Given the description of an element on the screen output the (x, y) to click on. 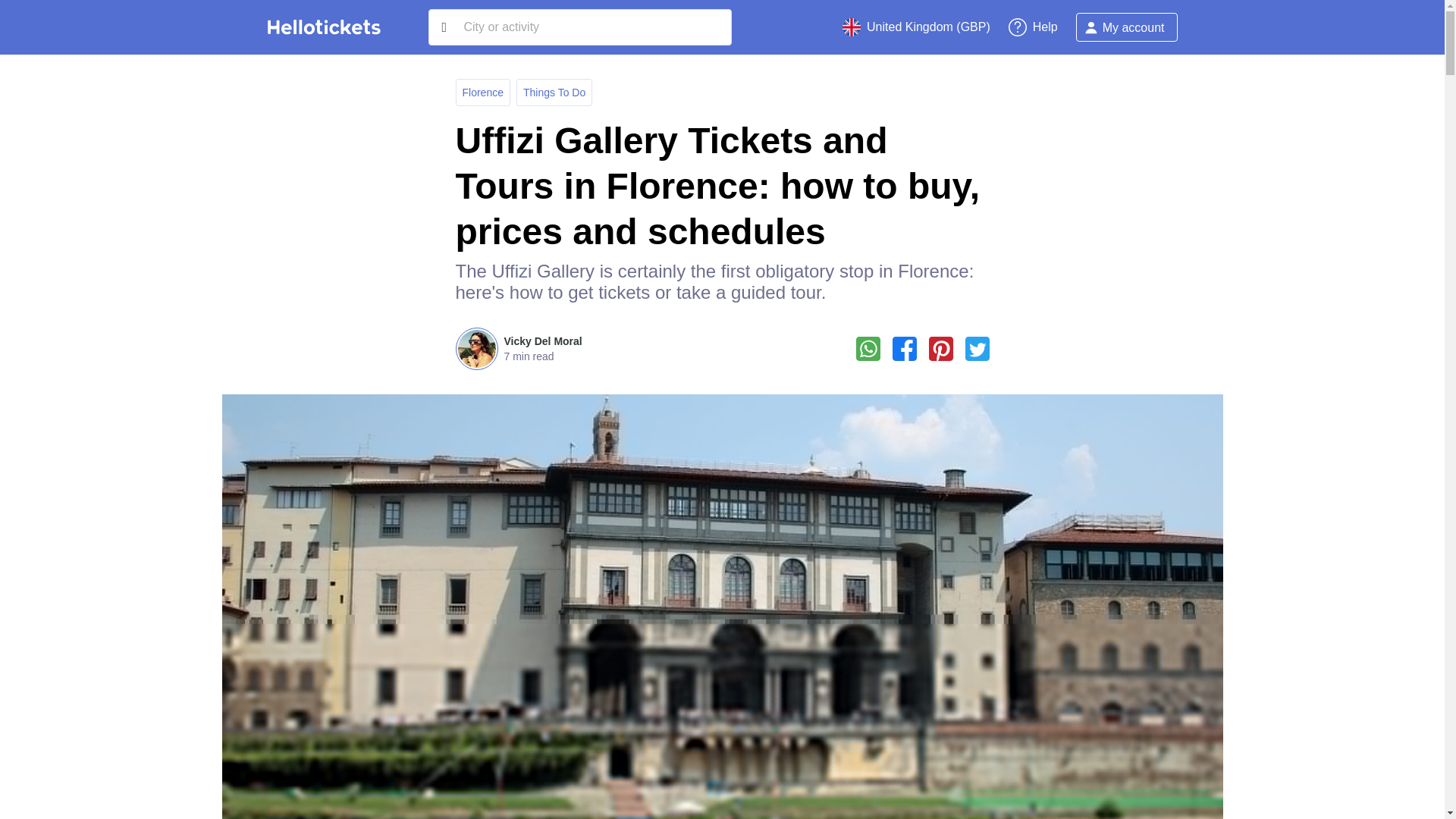
Things To Do (553, 92)
My account (1126, 27)
Florence (483, 92)
Help (1032, 27)
